Given the description of an element on the screen output the (x, y) to click on. 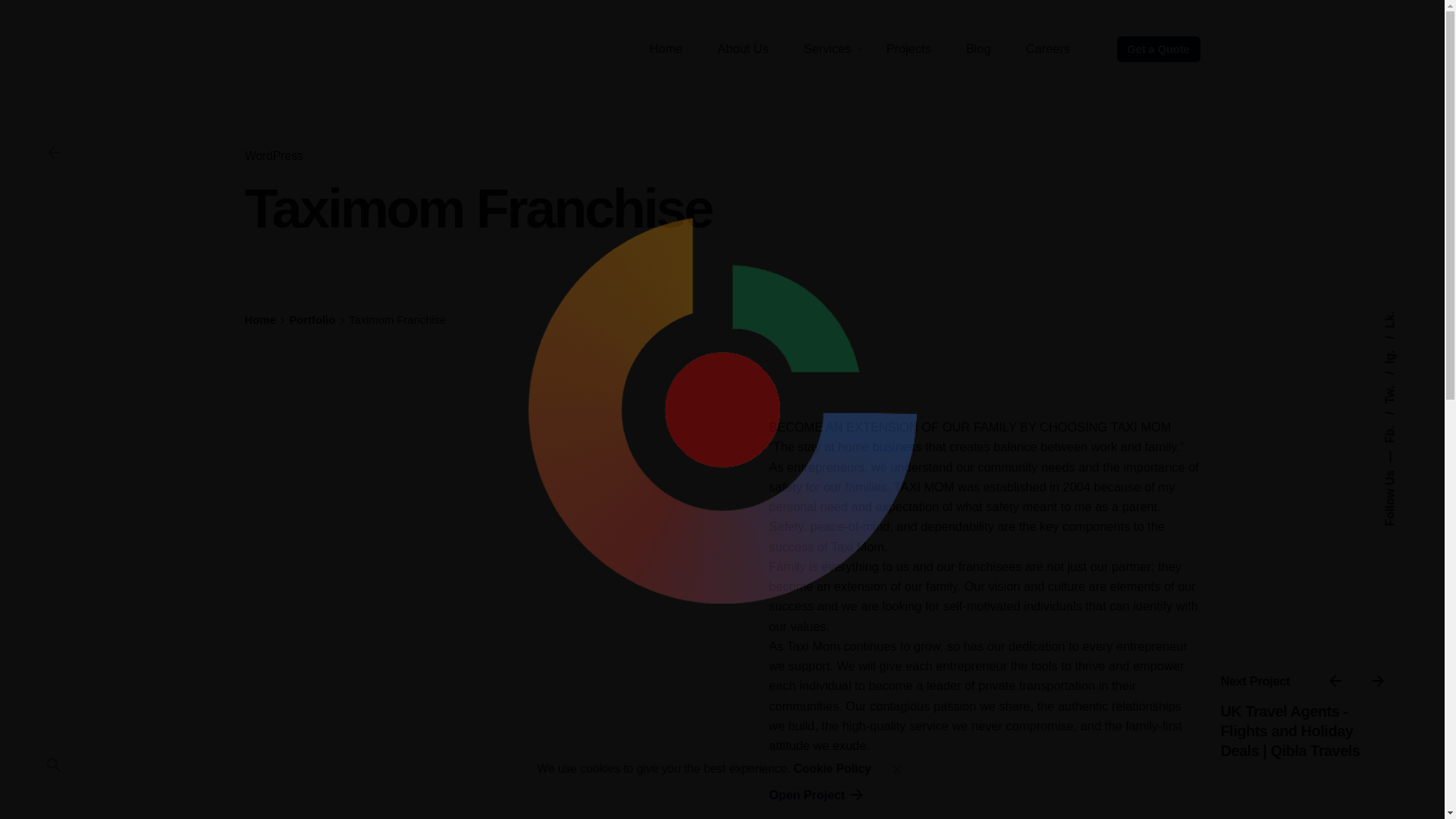
Tw. (1399, 377)
Projects (909, 49)
Careers (1048, 49)
Services (827, 49)
Lk. (1391, 317)
Ig. (1396, 341)
About Us (743, 49)
Fb. (1399, 418)
Home (665, 49)
Blog (979, 49)
